Given the description of an element on the screen output the (x, y) to click on. 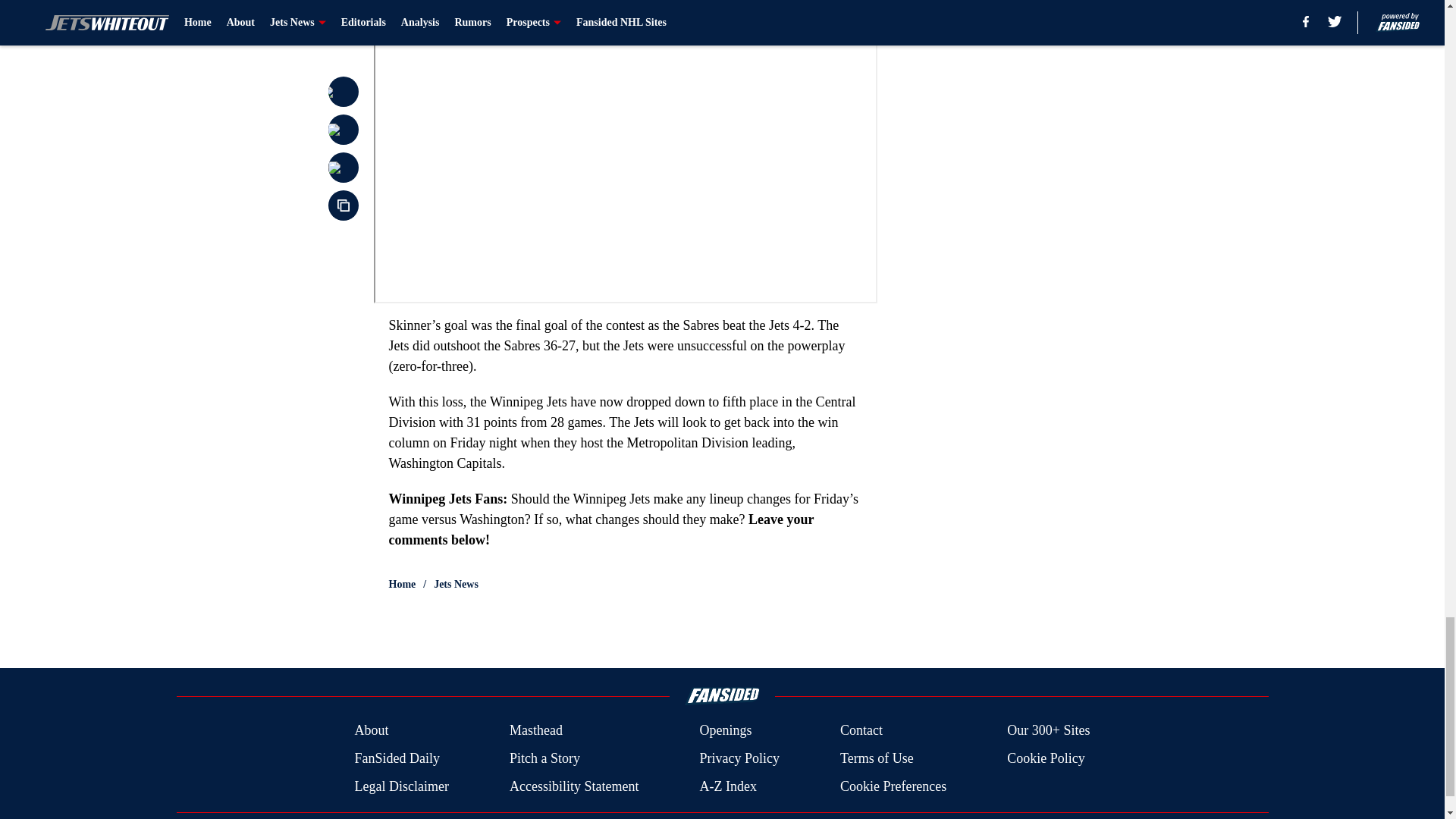
Masthead (535, 730)
Home (401, 584)
Contact (861, 730)
Pitch a Story (544, 758)
About (370, 730)
Terms of Use (877, 758)
Jets News (456, 584)
FanSided Daily (396, 758)
Privacy Policy (738, 758)
Legal Disclaimer (400, 786)
A-Z Index (726, 786)
Accessibility Statement (574, 786)
Cookie Preferences (893, 786)
Openings (724, 730)
Cookie Policy (1045, 758)
